Given the description of an element on the screen output the (x, y) to click on. 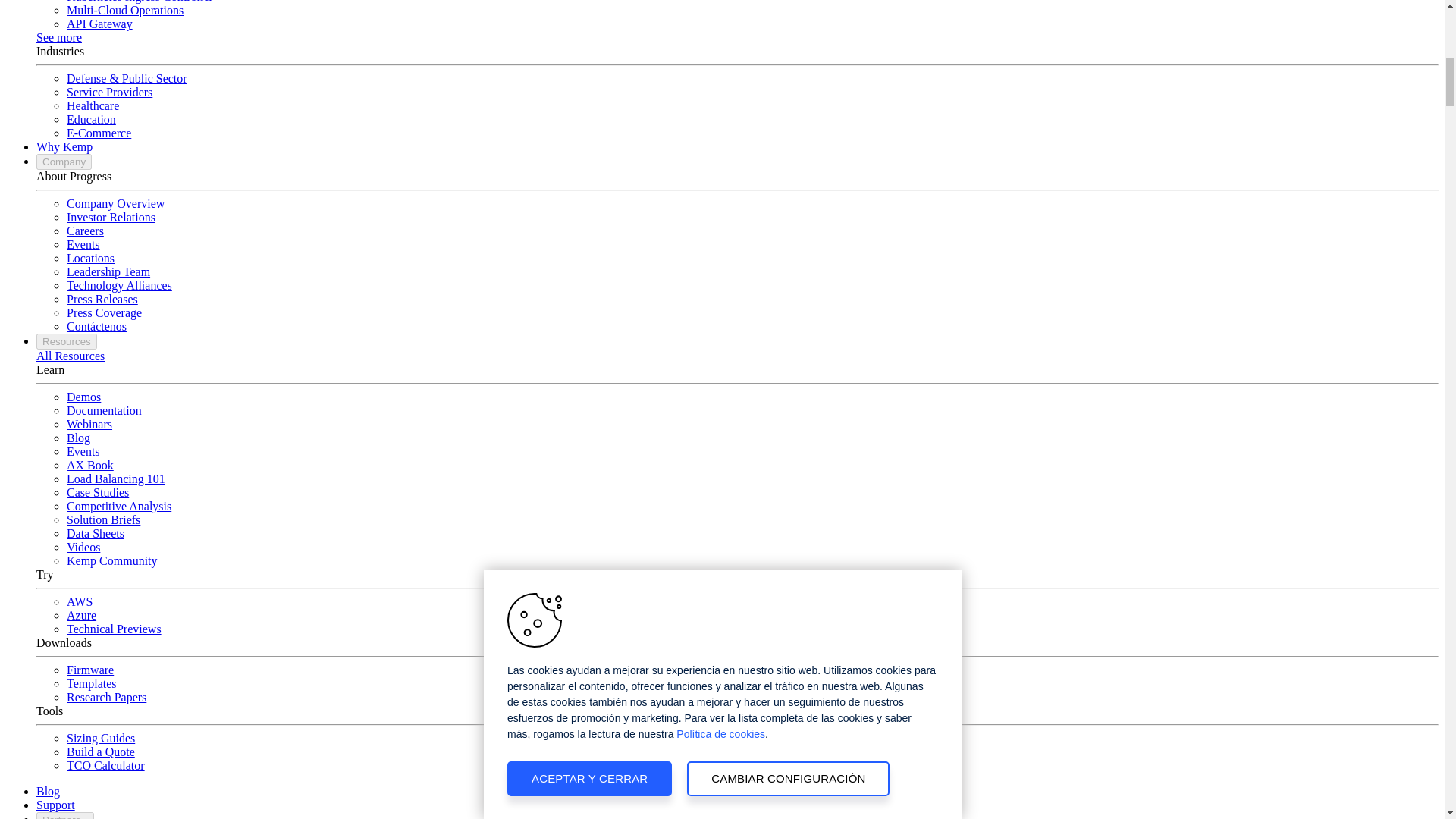
Service Providers (109, 91)
Kubernetes Ingress Controller (139, 1)
Healthcare (92, 105)
Education (91, 119)
See more (58, 37)
Multi-Cloud Operations (124, 10)
API Gateway (99, 23)
